Given the description of an element on the screen output the (x, y) to click on. 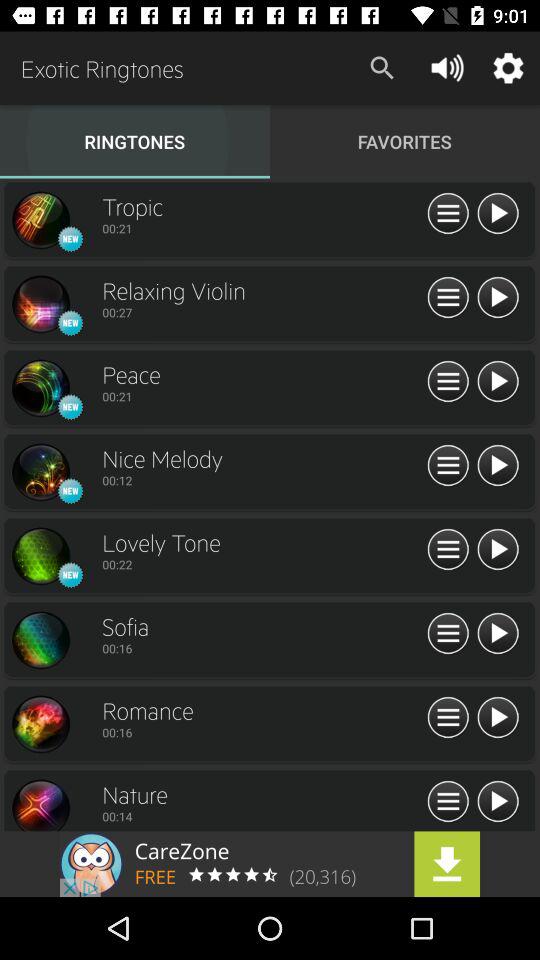
create new playlist and add list (447, 717)
